Given the description of an element on the screen output the (x, y) to click on. 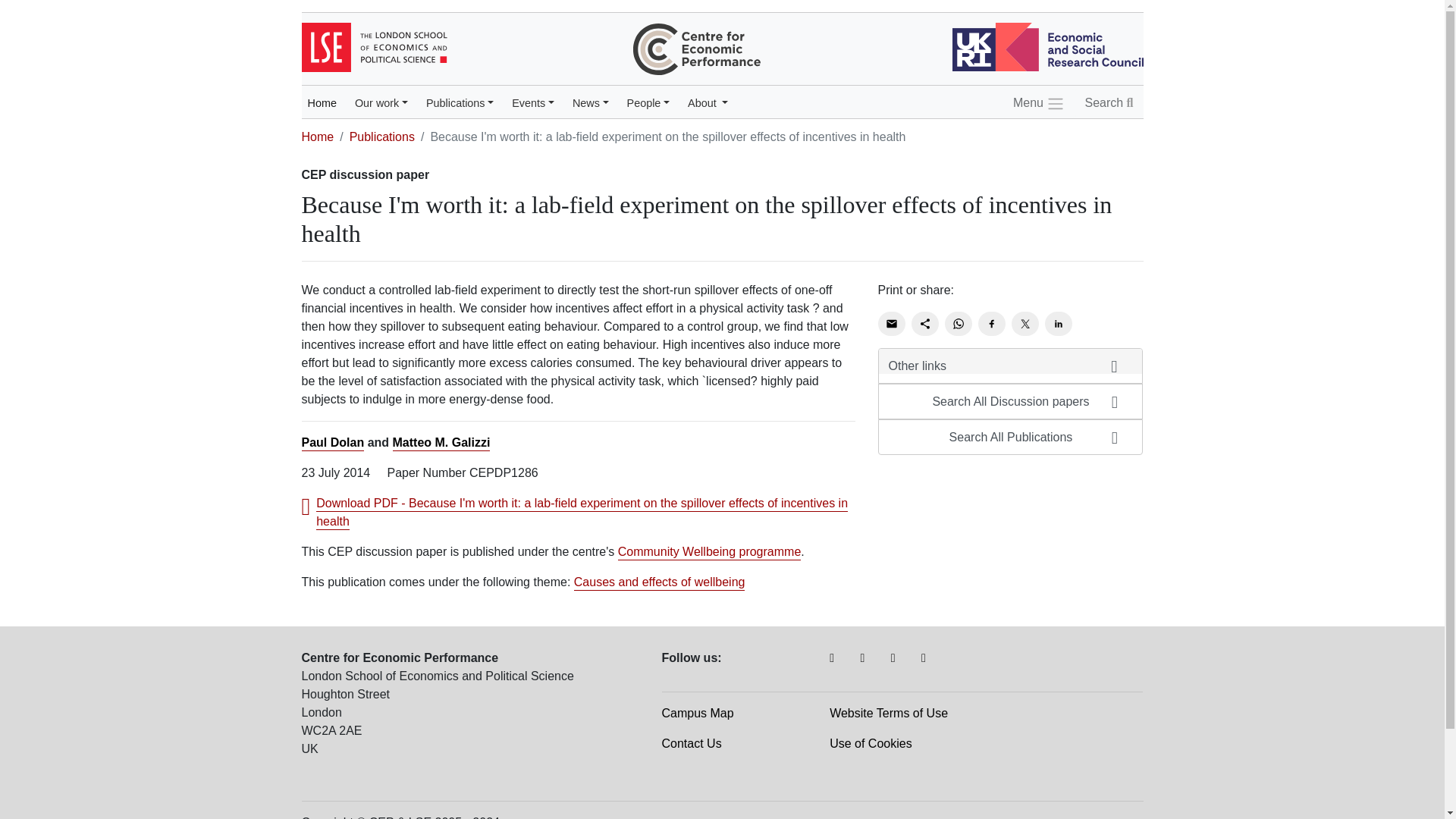
Our work (381, 103)
Home (321, 103)
Publications (459, 103)
